Given the description of an element on the screen output the (x, y) to click on. 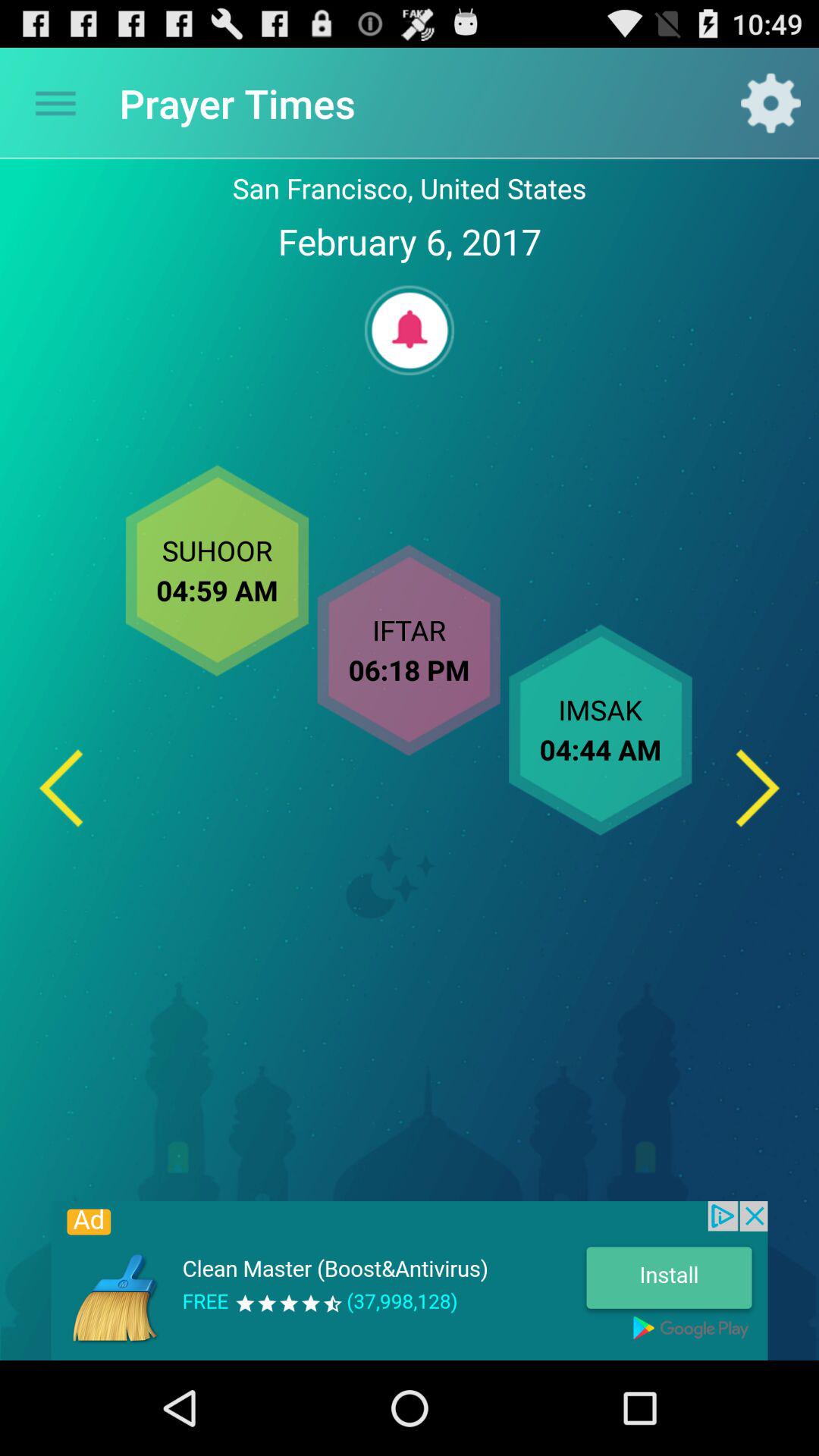
go to next (757, 787)
